Given the description of an element on the screen output the (x, y) to click on. 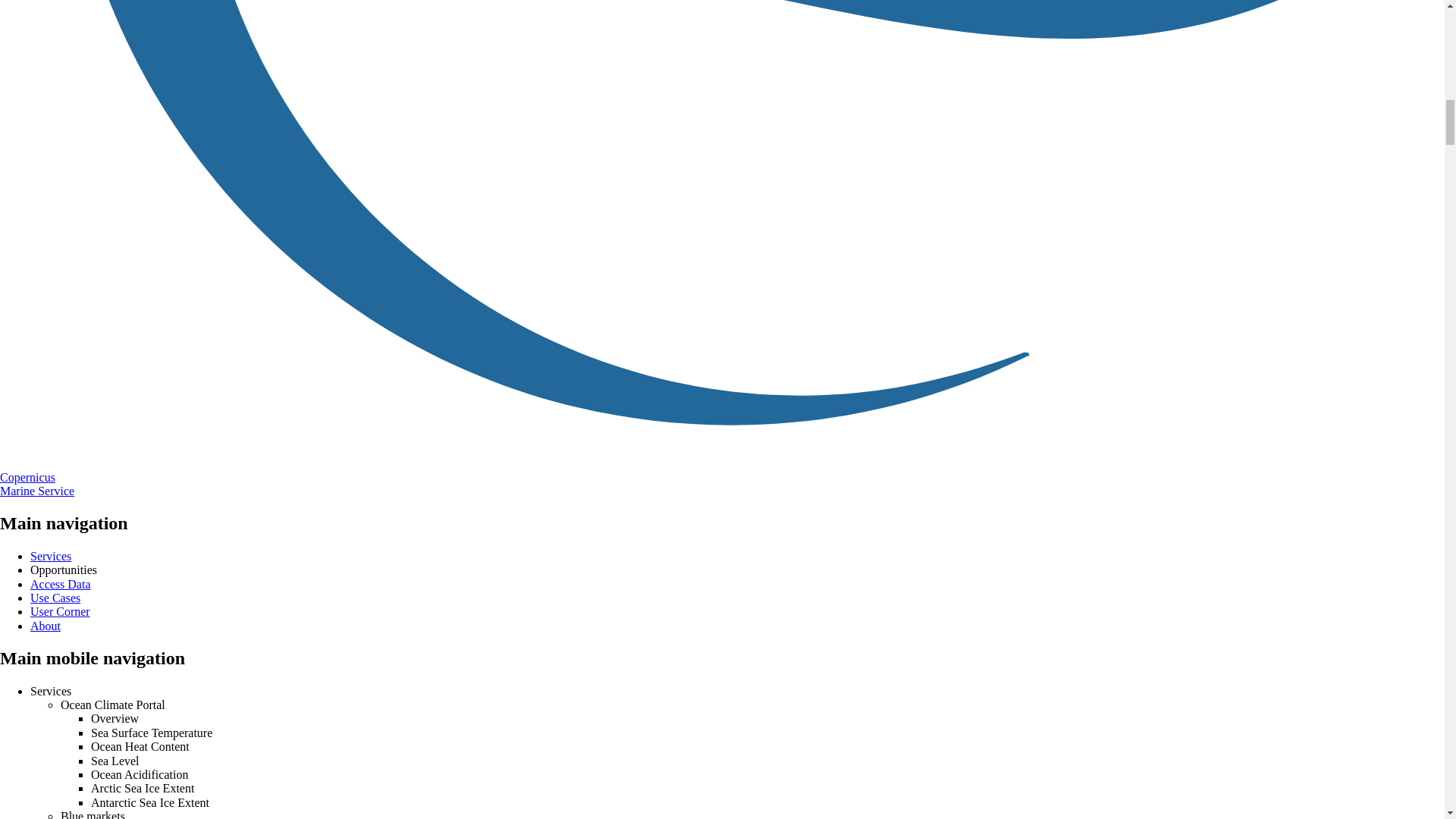
User Corner (60, 611)
Use Cases (55, 597)
About (45, 625)
Access Data (60, 584)
Services (50, 555)
